Given the description of an element on the screen output the (x, y) to click on. 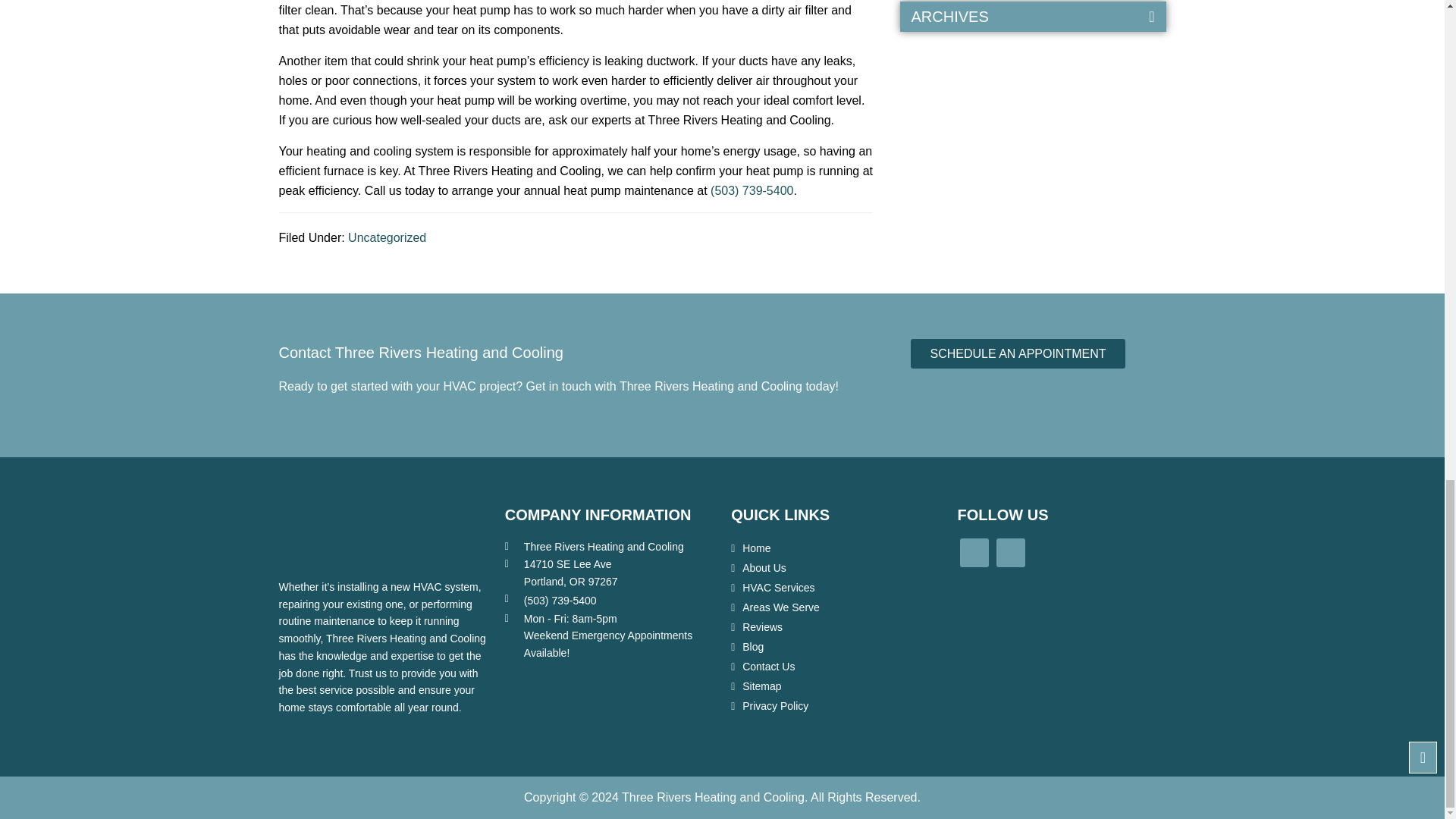
Facebook (973, 552)
Three Rivers Heating and Cooling (311, 534)
Google Business Profile (1010, 552)
